Given the description of an element on the screen output the (x, y) to click on. 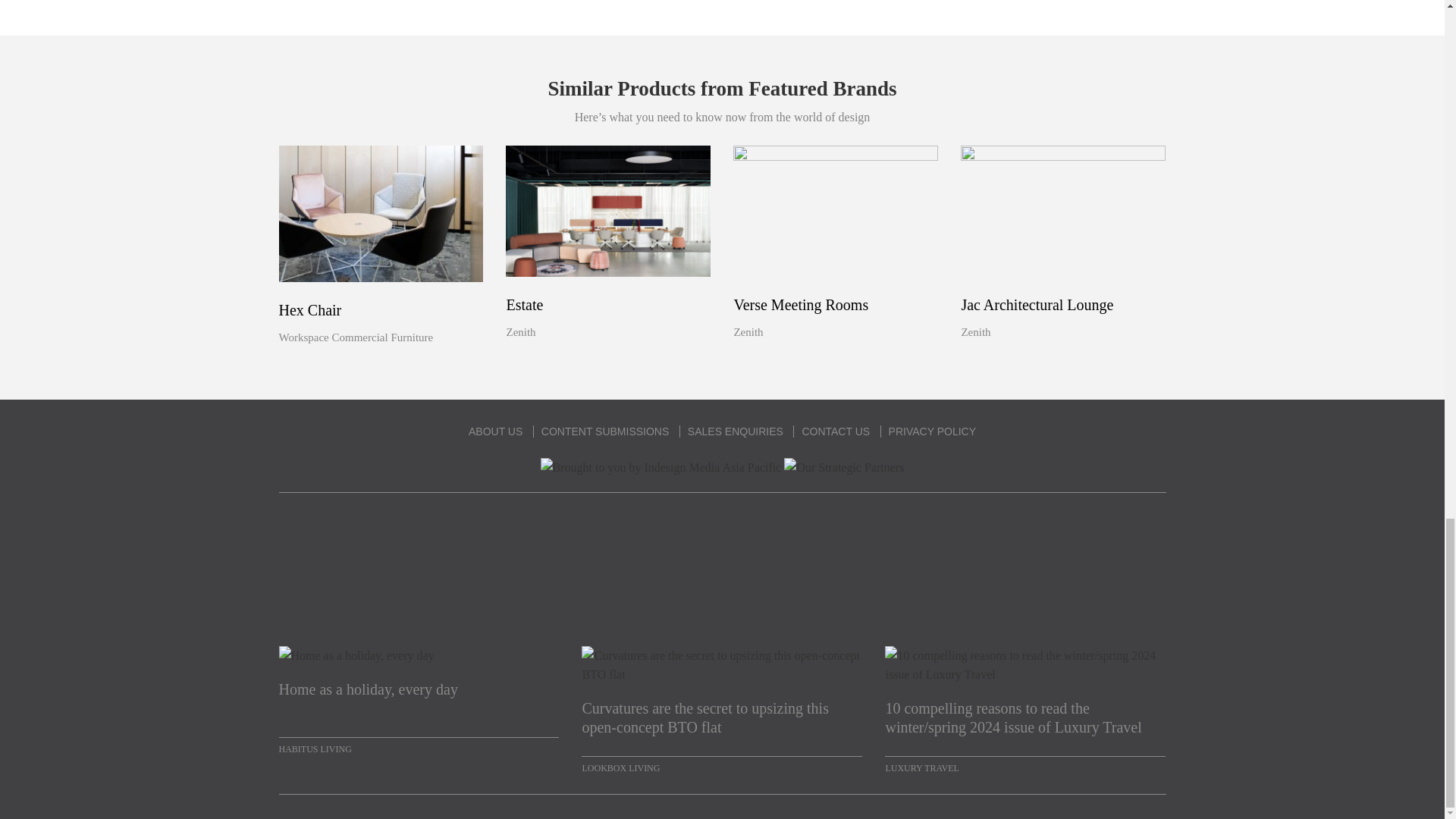
Brought to you by Indesign Media Asia Pacific (660, 466)
Our Strategic Partners (844, 466)
Home as a holiday, every day (419, 699)
